Given the description of an element on the screen output the (x, y) to click on. 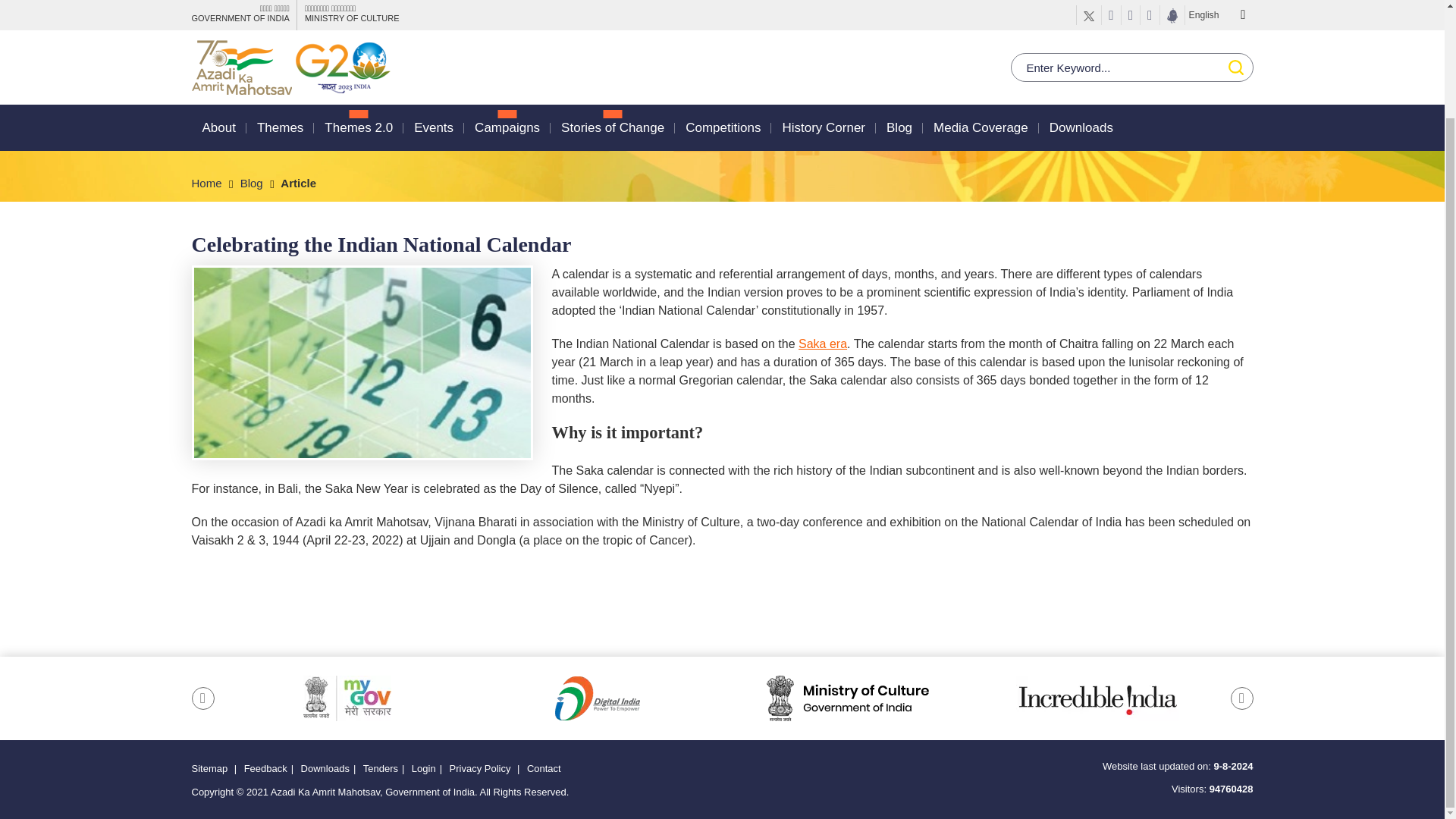
Campaigns (507, 7)
Themes (279, 7)
About (218, 7)
Events (432, 7)
Home (212, 182)
Stories of Change (611, 7)
Competitions (722, 7)
History Corner (822, 7)
Themes 2.0 (358, 7)
